Given the description of an element on the screen output the (x, y) to click on. 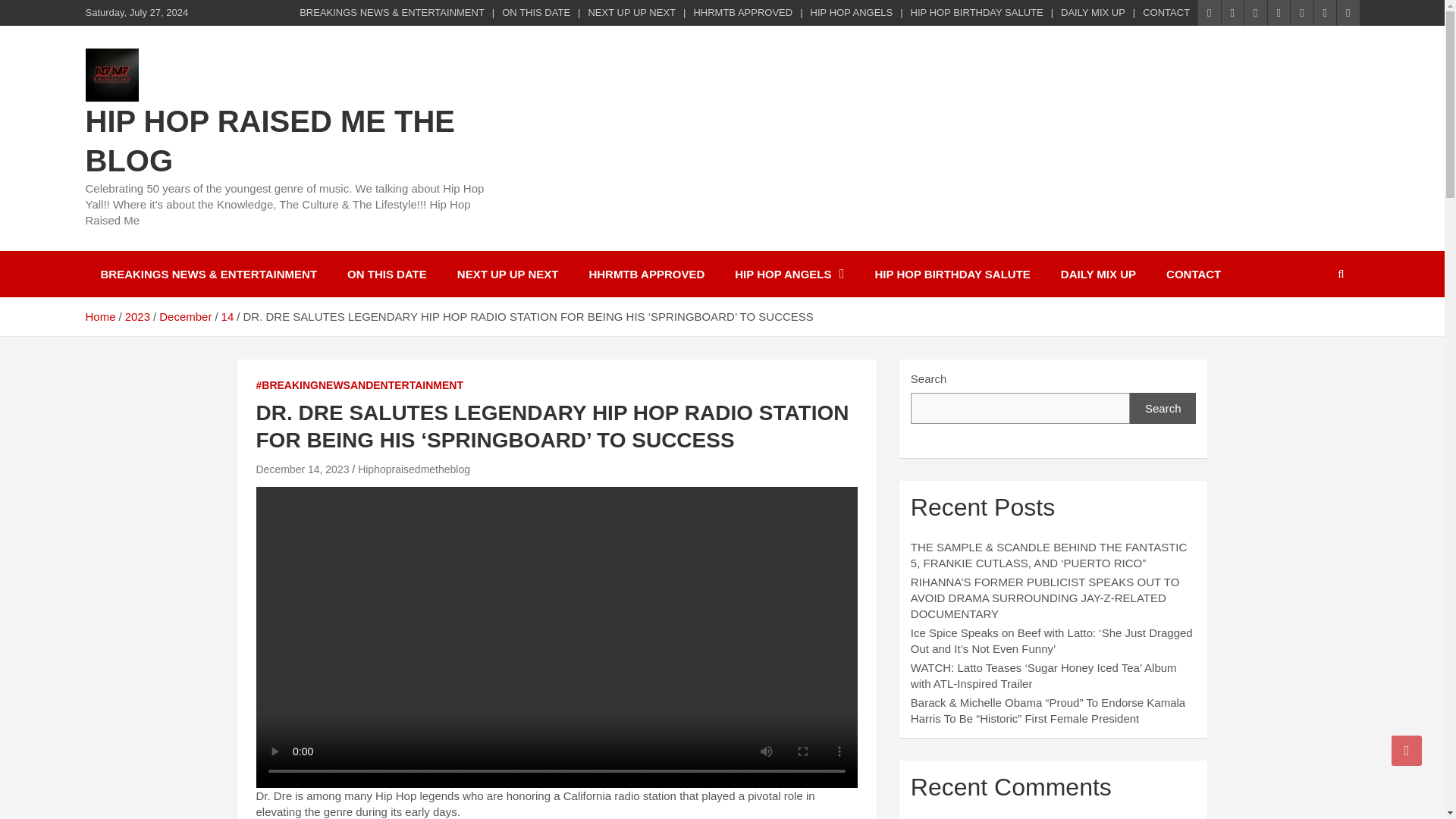
14 (227, 316)
December (184, 316)
HIP HOP ANGELS (851, 12)
HIP HOP RAISED ME THE BLOG (269, 140)
HIP HOP BIRTHDAY SALUTE (977, 12)
December 14, 2023 (302, 469)
HIP HOP ANGELS (789, 273)
NEXT UP UP NEXT (507, 273)
HHRMTB APPROVED (646, 273)
HIP HOP BIRTHDAY SALUTE (952, 273)
Hiphopraisedmetheblog (414, 469)
DAILY MIX UP (1098, 273)
HHRMTB APPROVED (742, 12)
ON THIS DATE (386, 273)
Home (99, 316)
